Given the description of an element on the screen output the (x, y) to click on. 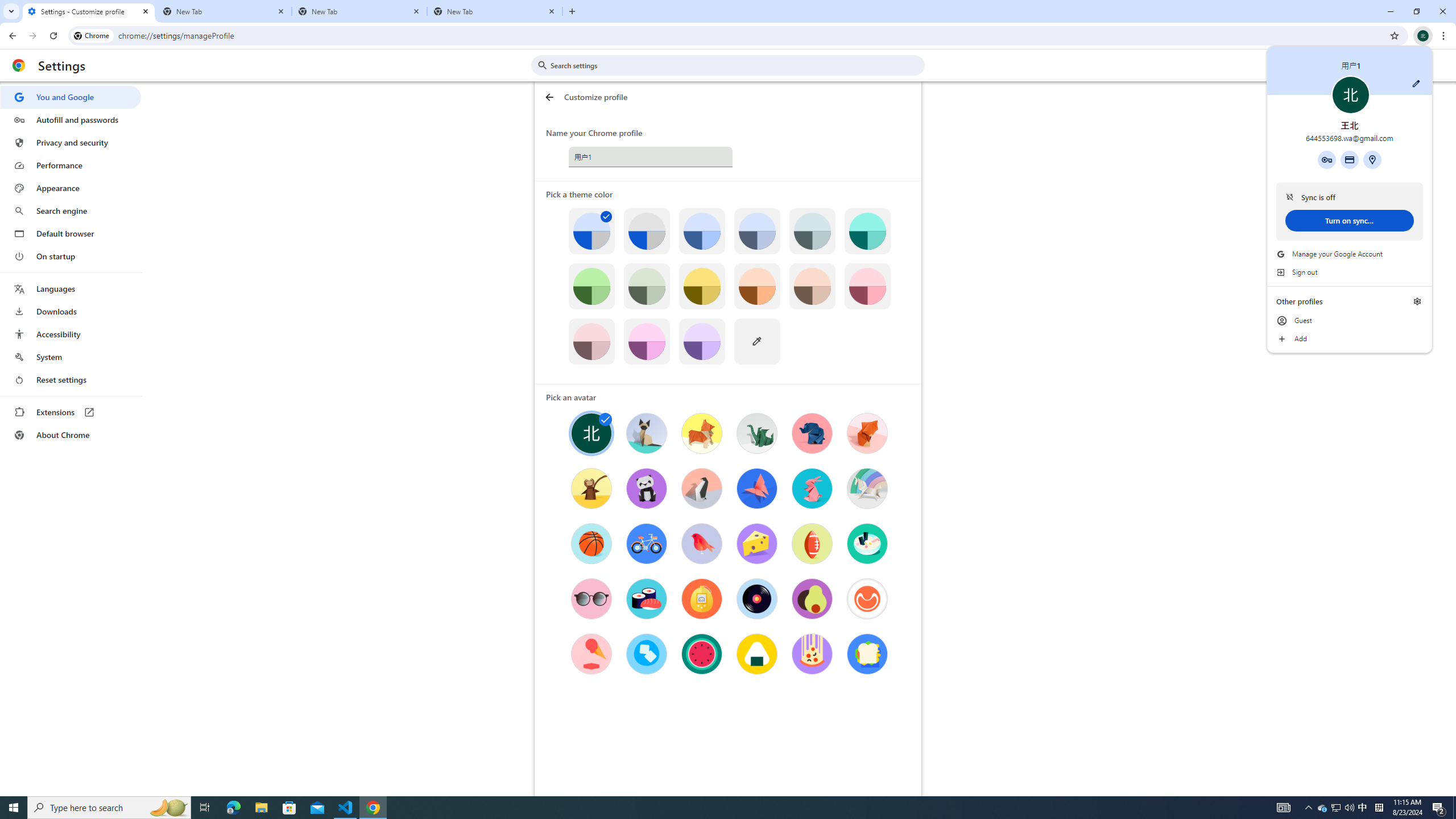
Show desktop (1454, 807)
New Tab (224, 11)
Add (1349, 339)
Google Password Manager (1326, 159)
Task View (204, 807)
On startup (70, 255)
AutomationID: menu (71, 265)
Notification Chevron (1308, 807)
Autofill and passwords (70, 119)
Type here to search (108, 807)
Downloads (70, 311)
